Given the description of an element on the screen output the (x, y) to click on. 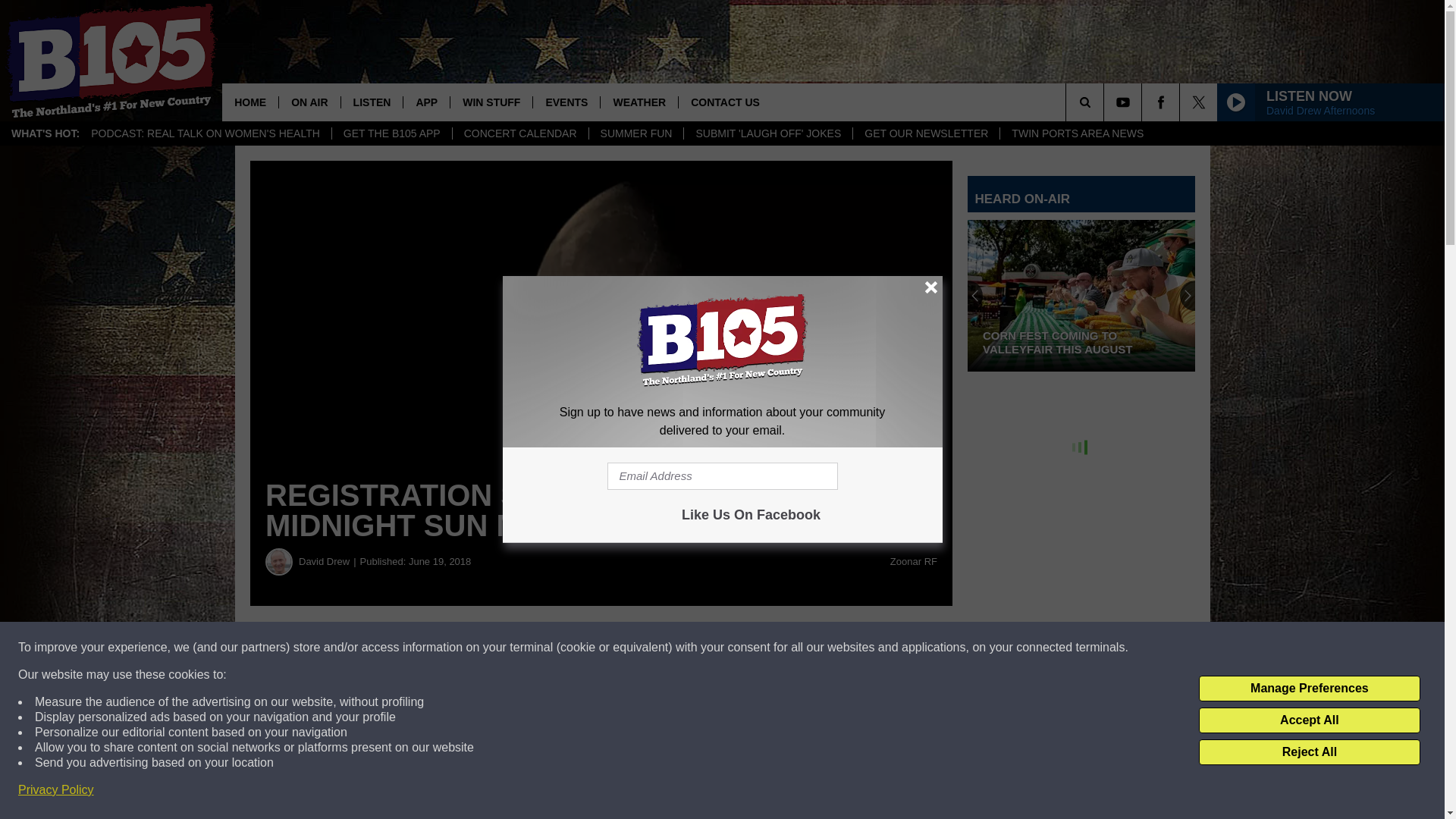
APP (426, 102)
Reject All (1309, 751)
SEARCH (1106, 102)
GET THE B105 APP (391, 133)
Manage Preferences (1309, 688)
PODCAST: REAL TALK ON WOMEN'S HEALTH (205, 133)
ON AIR (308, 102)
Share on Twitter (741, 647)
SEARCH (1106, 102)
WIN STUFF (490, 102)
Share on Facebook (460, 647)
SUMMER FUN (636, 133)
GET OUR NEWSLETTER (924, 133)
Privacy Policy (55, 789)
SUBMIT 'LAUGH OFF' JOKES (766, 133)
